Given the description of an element on the screen output the (x, y) to click on. 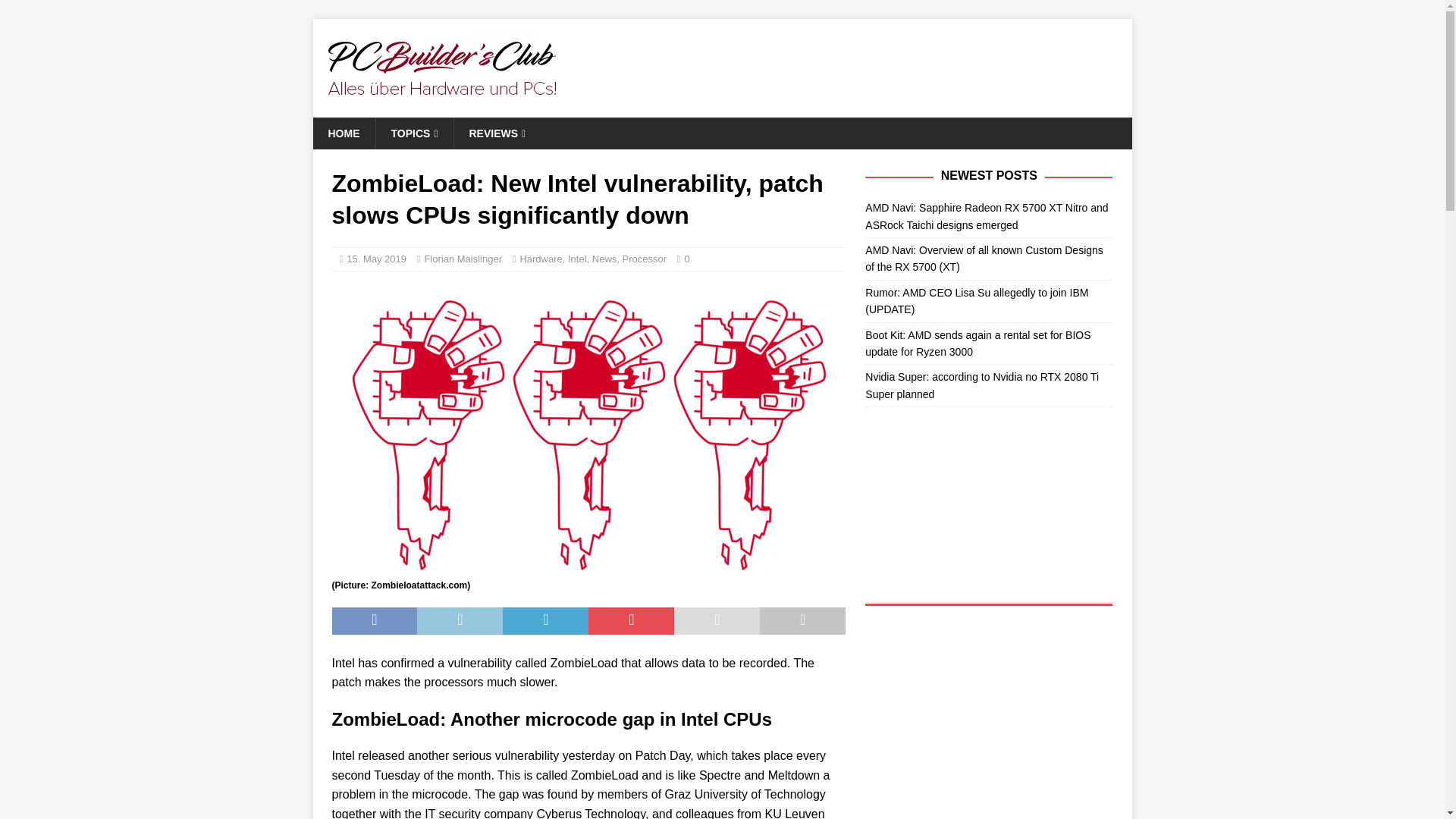
Hardware (540, 258)
Intel (576, 258)
News (604, 258)
Florian Maislinger (462, 258)
TOPICS (413, 133)
REVIEWS (496, 133)
Processor (644, 258)
HOME (343, 133)
15. May 2019 (376, 258)
